Given the description of an element on the screen output the (x, y) to click on. 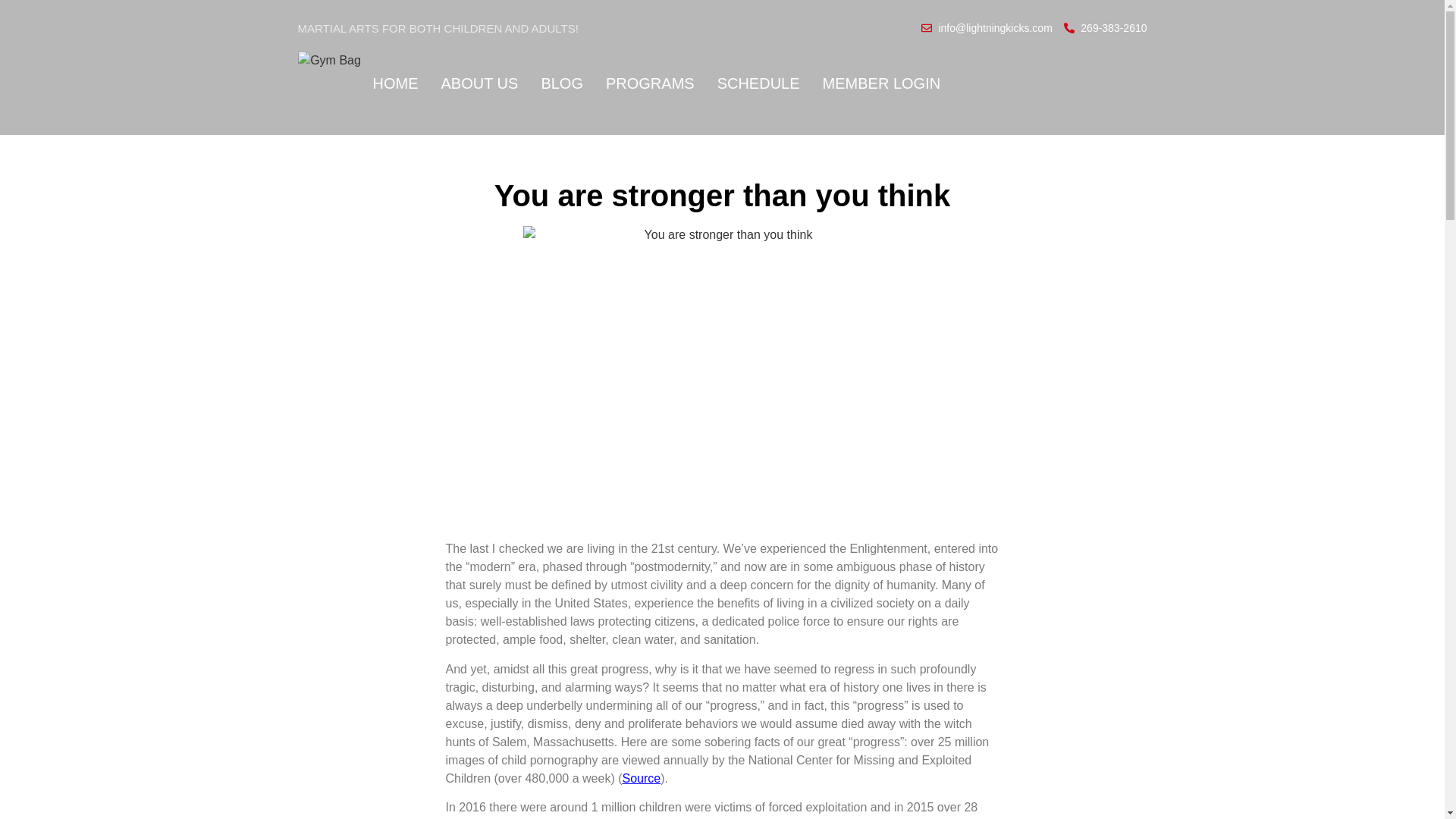
HOME (395, 82)
MEMBER LOGIN (881, 82)
Source (642, 778)
SCHEDULE (758, 82)
PROGRAMS (649, 82)
BLOG (561, 82)
ABOUT US (479, 82)
269-383-2610 (1105, 27)
